Given the description of an element on the screen output the (x, y) to click on. 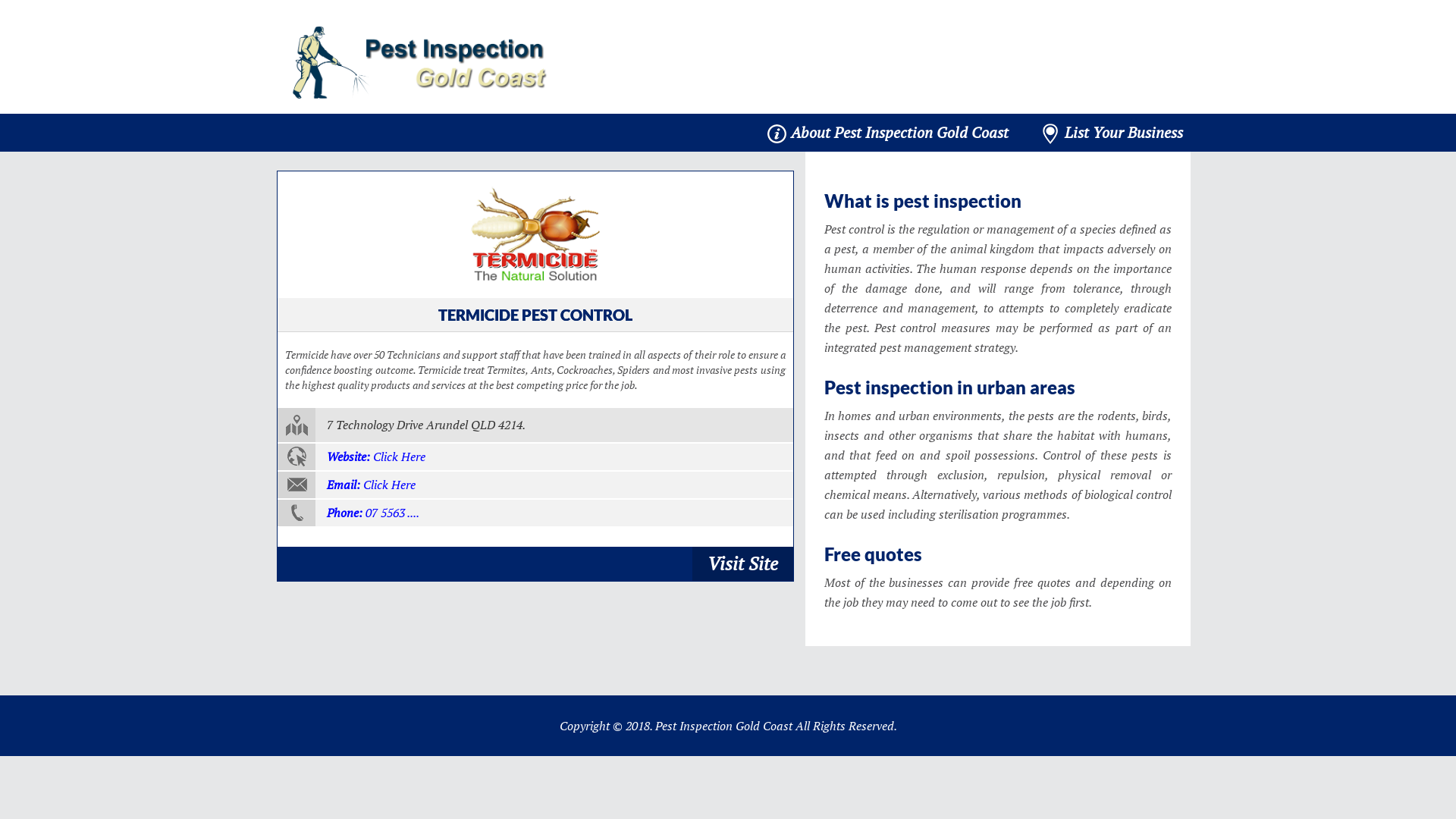
About Pest Inspection Gold Coast Element type: text (888, 132)
Phone: 07 5563 .... Element type: text (535, 512)
List Your Business Element type: text (1112, 132)
7 Technology Drive Arundel QLD 4214. Element type: text (535, 425)
Pest Inspection Gold Coast Element type: hover (419, 62)
Website: Click Here Element type: text (535, 456)
Email: Click Here Element type: text (535, 485)
Visit Site Element type: text (742, 563)
K&B Security Doors and Shutters Element type: hover (534, 234)
